Given the description of an element on the screen output the (x, y) to click on. 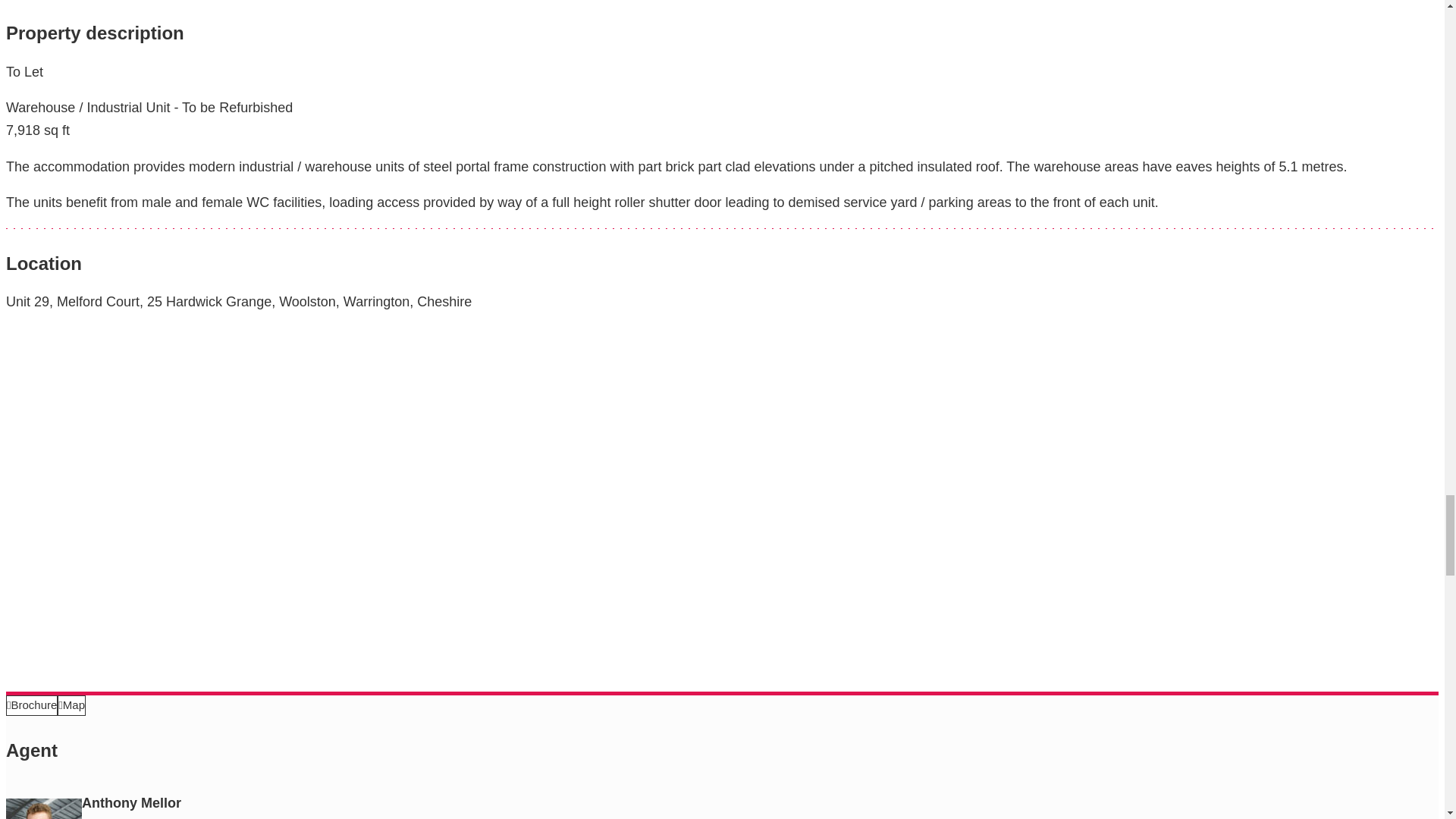
Brochure (31, 705)
Anthony Mellor (43, 808)
Map (71, 705)
Map (71, 705)
Map (71, 705)
